Given the description of an element on the screen output the (x, y) to click on. 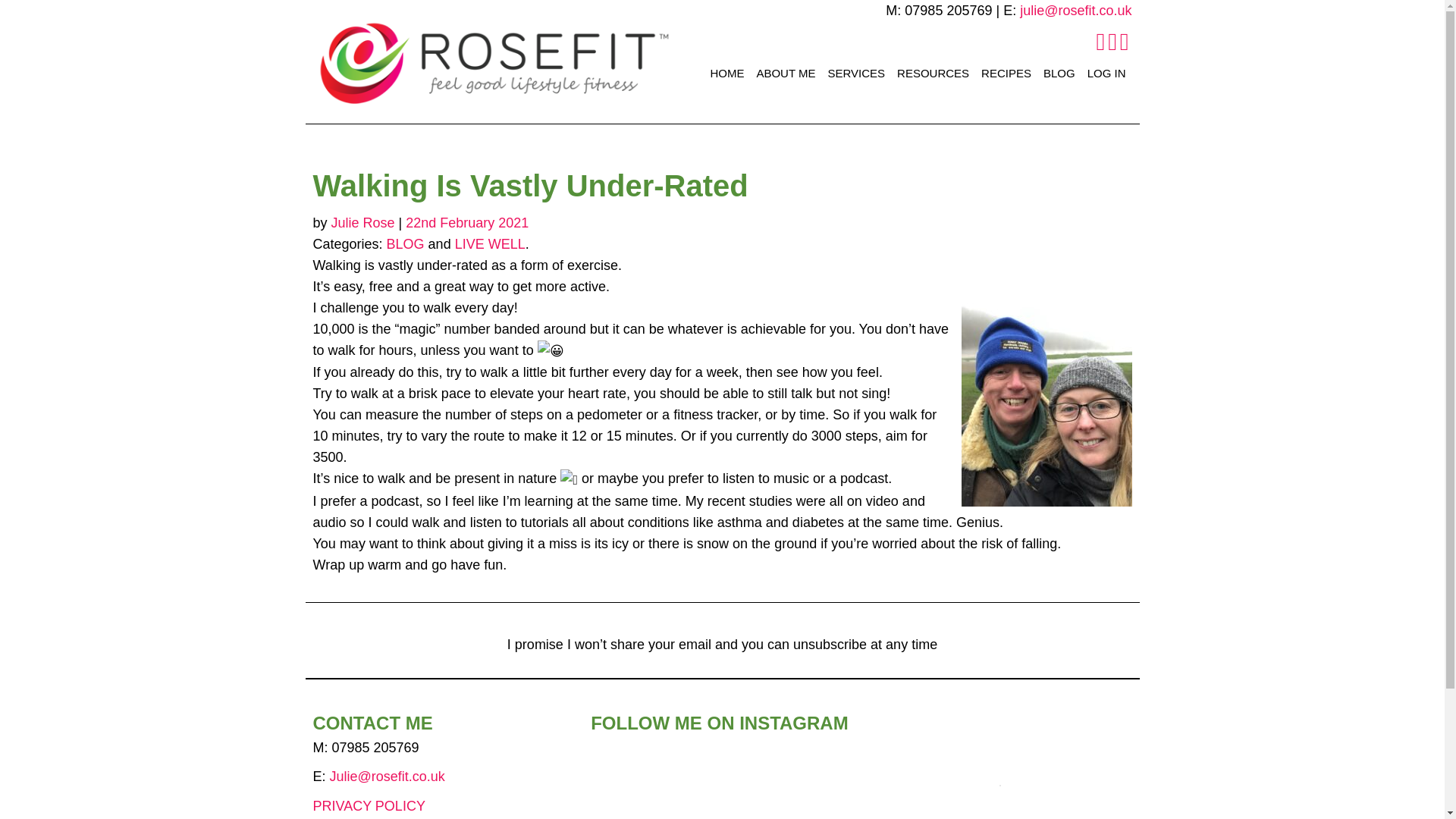
RECIPES (1005, 73)
RESOURCES (933, 73)
ABOUT ME (785, 73)
BLOG (1058, 73)
SERVICES (856, 73)
LOG IN (1106, 73)
HOME (726, 73)
